Given the description of an element on the screen output the (x, y) to click on. 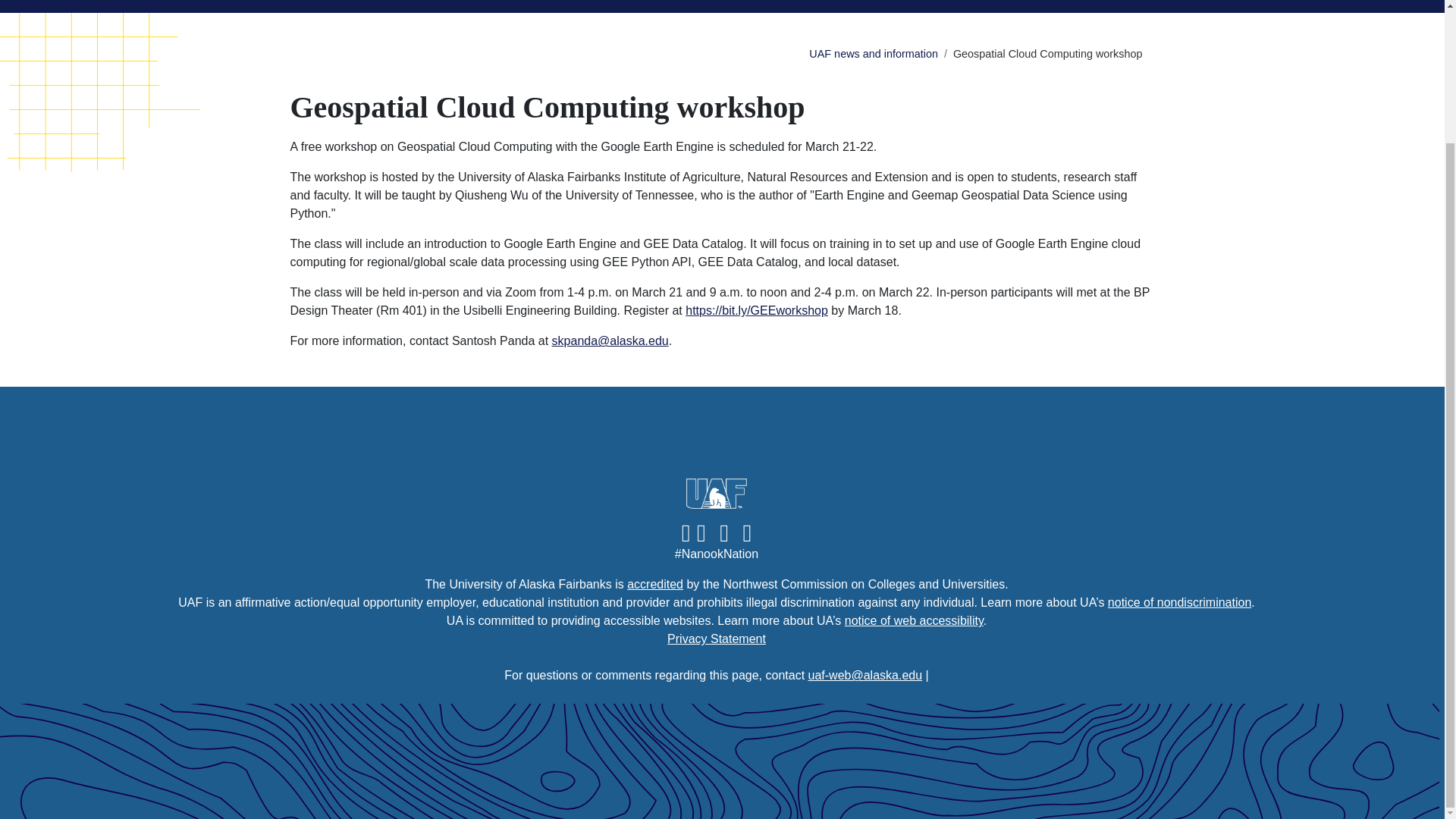
Events (430, 6)
Students (668, 6)
Follow UAF on Instagram (700, 532)
Submissions (1107, 6)
notice of nondiscrimination (1179, 602)
notice of web accessibility (914, 620)
Privacy Statement (715, 638)
accredited (654, 584)
Aurora magazine (812, 6)
Follow UAF on TikTok (724, 532)
